Given the description of an element on the screen output the (x, y) to click on. 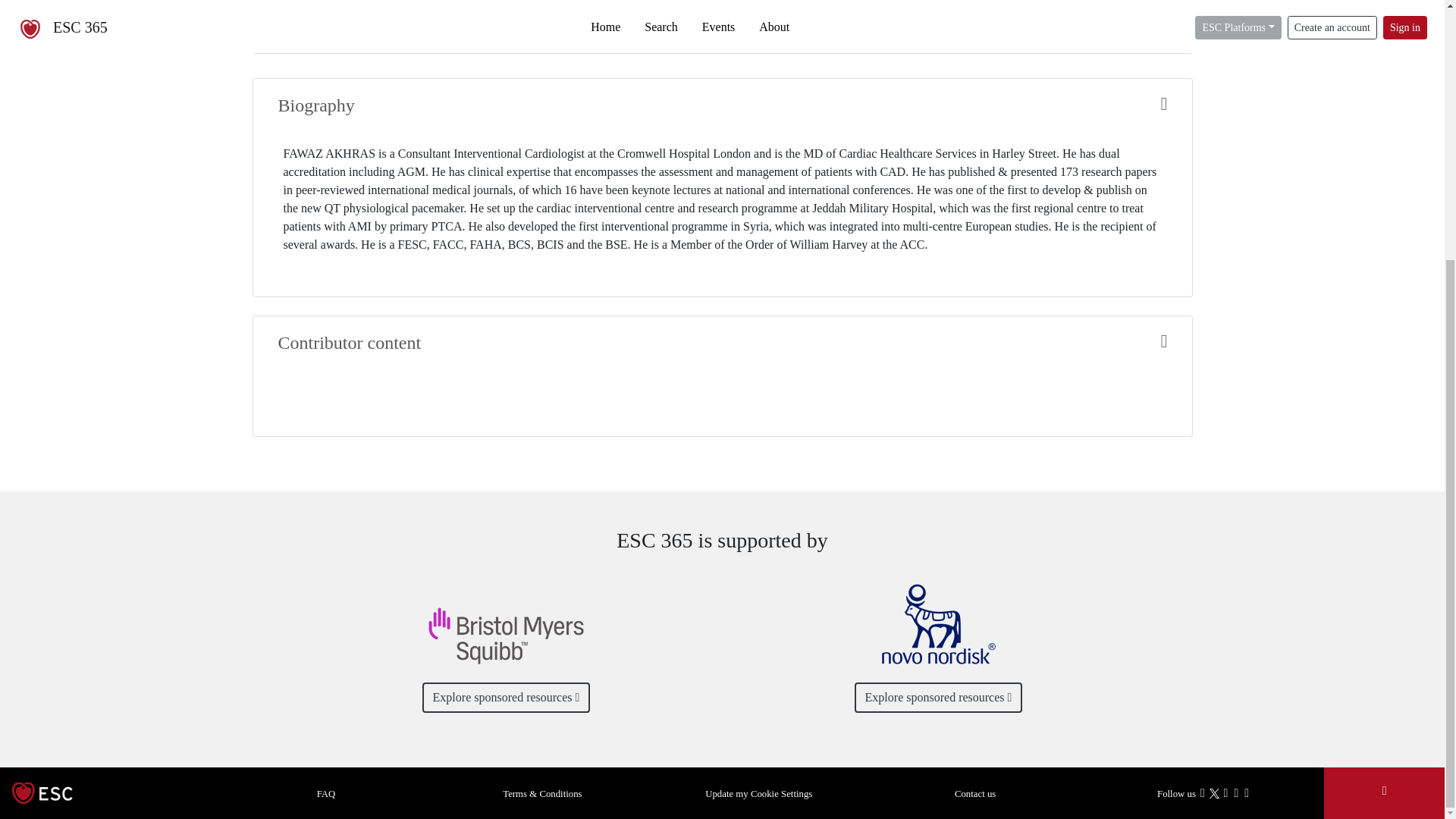
Explore sponsored resources (506, 697)
Explore sponsored resources (938, 697)
Biography (721, 105)
Contact us (975, 792)
Contributor content (721, 342)
FAQ (326, 792)
